Given the description of an element on the screen output the (x, y) to click on. 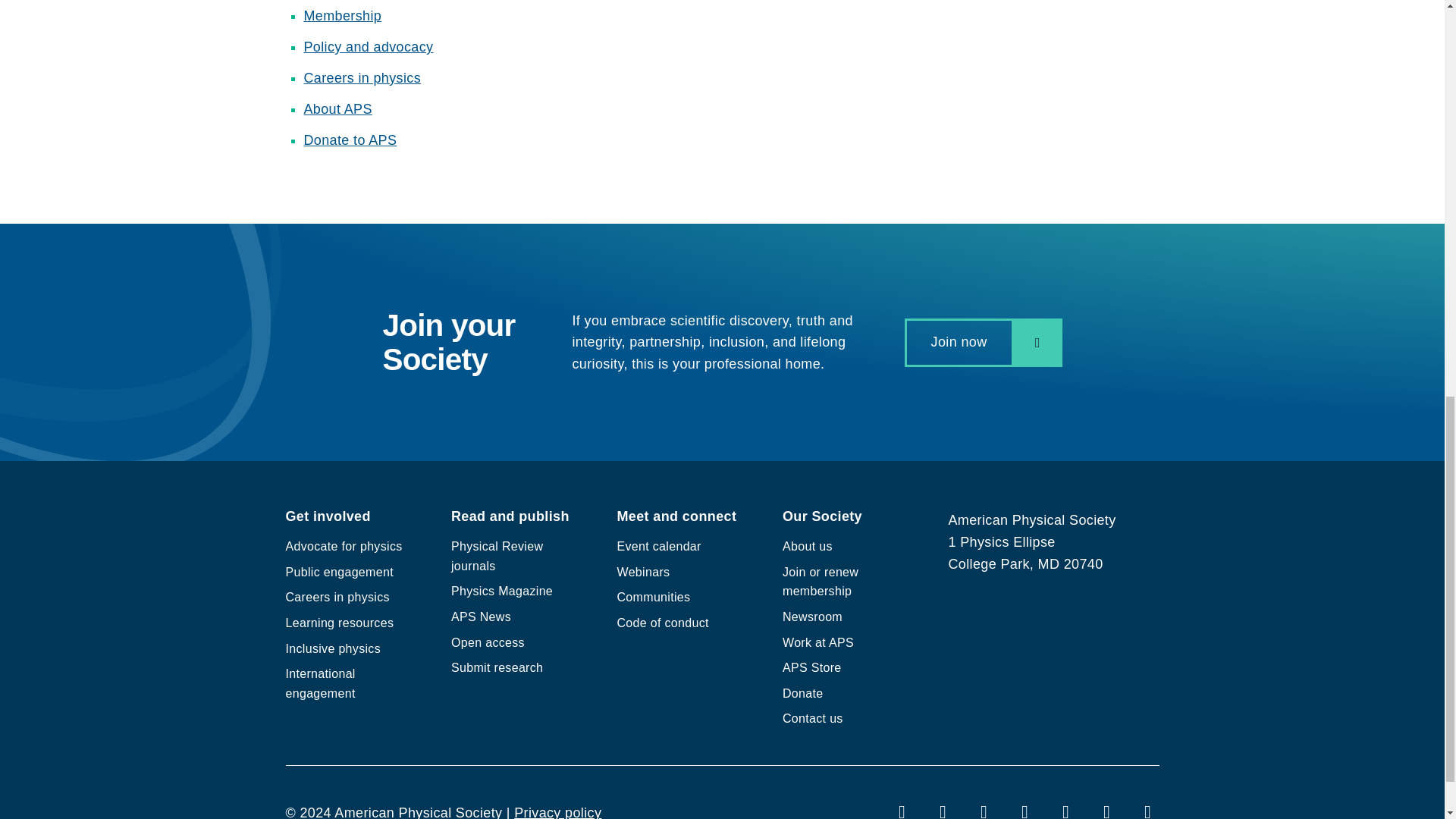
Membership (341, 15)
About APS (336, 109)
Join now (983, 341)
Public engagement (339, 571)
Learning resources (339, 622)
Careers in physics (336, 596)
Policy and advocacy (367, 46)
Donate to APS (349, 139)
Careers in physics (361, 77)
Advocate for physics (343, 545)
